Given the description of an element on the screen output the (x, y) to click on. 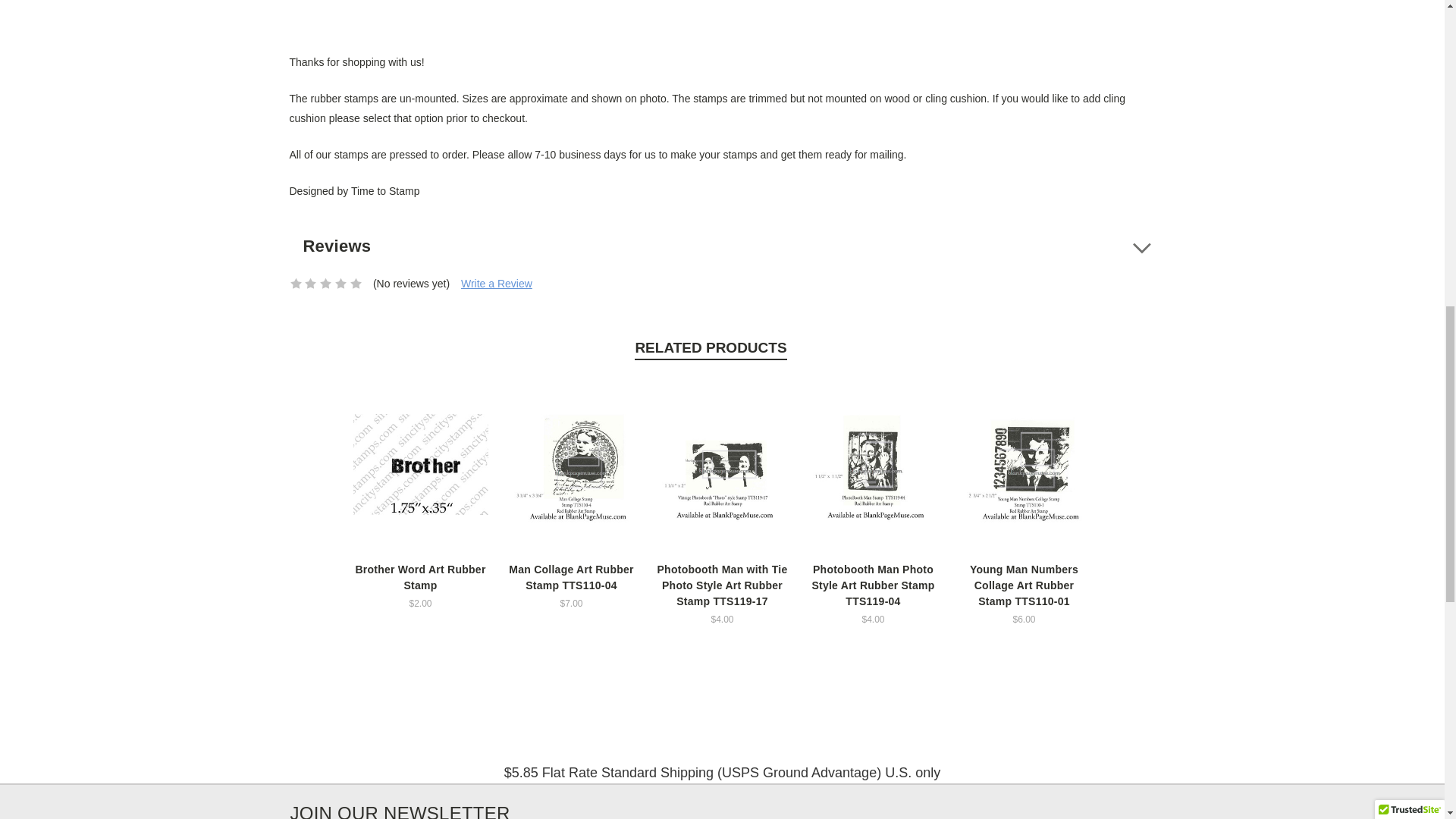
Man Collage Art Rubber Stamp TTS110-04 (571, 464)
Young Man Numbers Collage Art Rubber Stamp TTS110-01 (1024, 464)
Brother Word Art Rubber Stamp (420, 464)
Photobooth Man Photo Style Art Rubber Stamp TTS119-04 (872, 464)
